Given the description of an element on the screen output the (x, y) to click on. 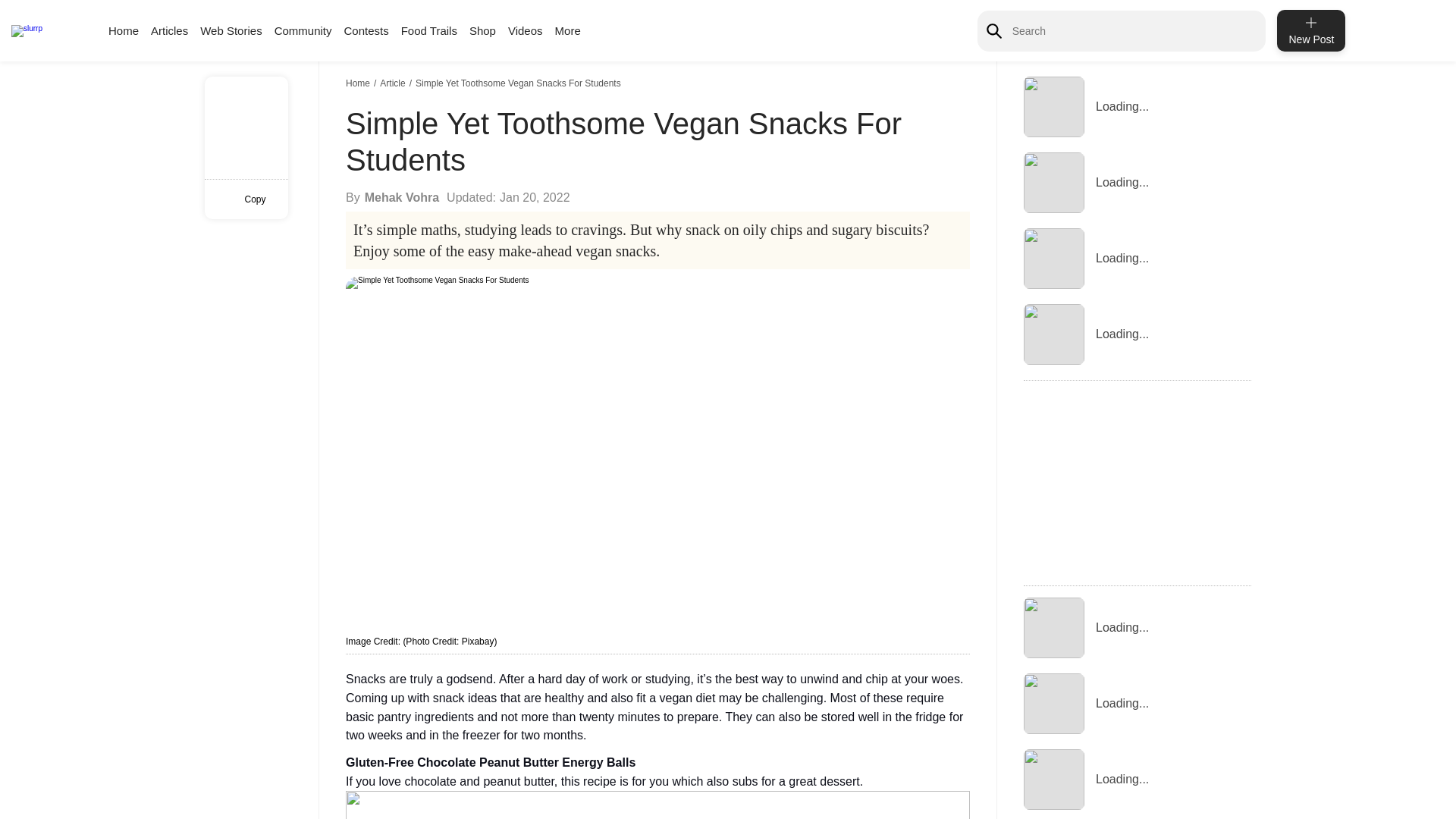
Web Stories (231, 30)
Community (303, 30)
Articles (169, 30)
Home (122, 30)
Shop (482, 30)
Contests (365, 30)
Videos (525, 30)
New Post (1310, 30)
Article (394, 82)
Food Trails (429, 30)
Home (360, 82)
